Given the description of an element on the screen output the (x, y) to click on. 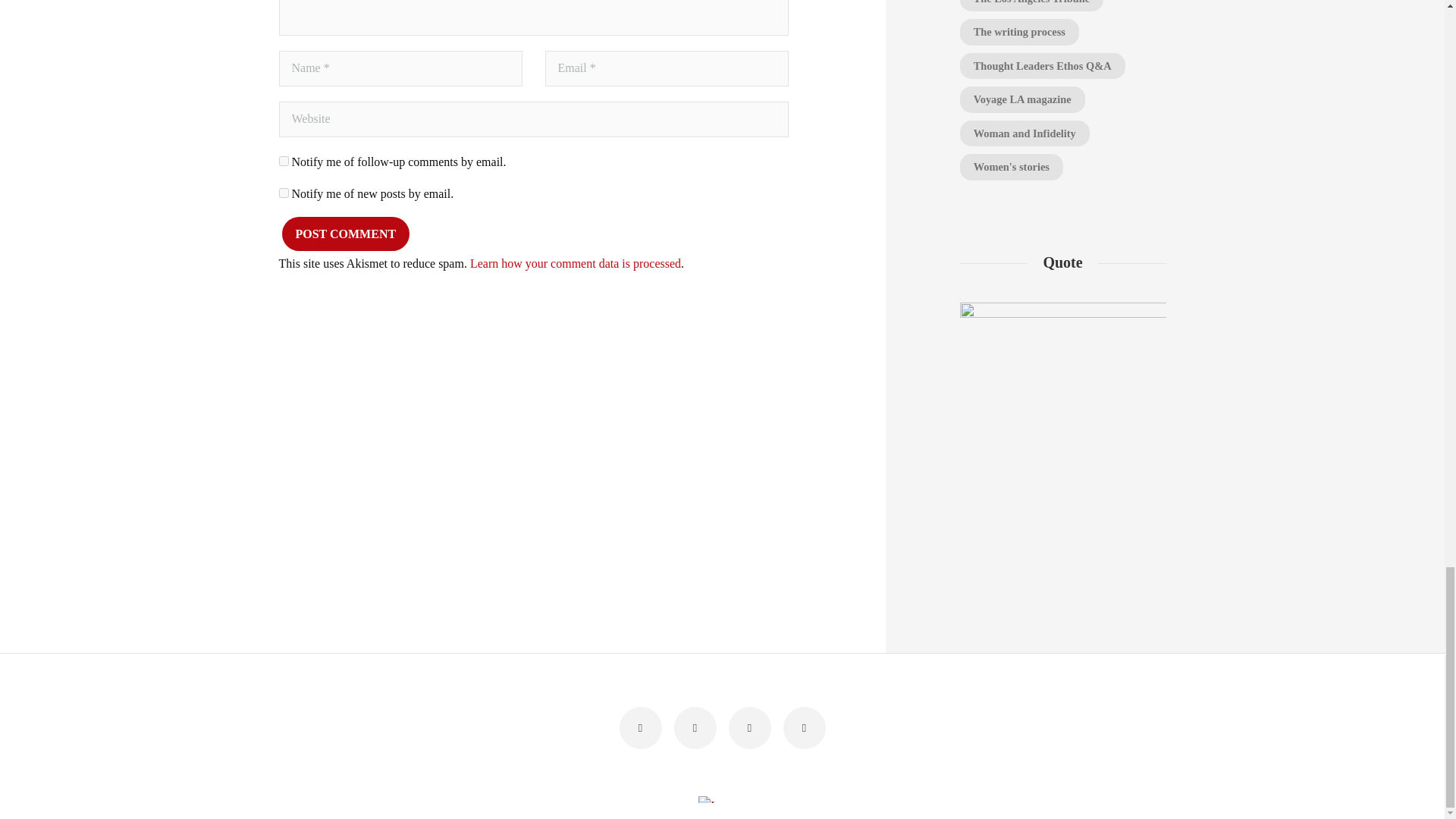
subscribe (283, 193)
subscribe (283, 161)
Post Comment (346, 234)
